Given the description of an element on the screen output the (x, y) to click on. 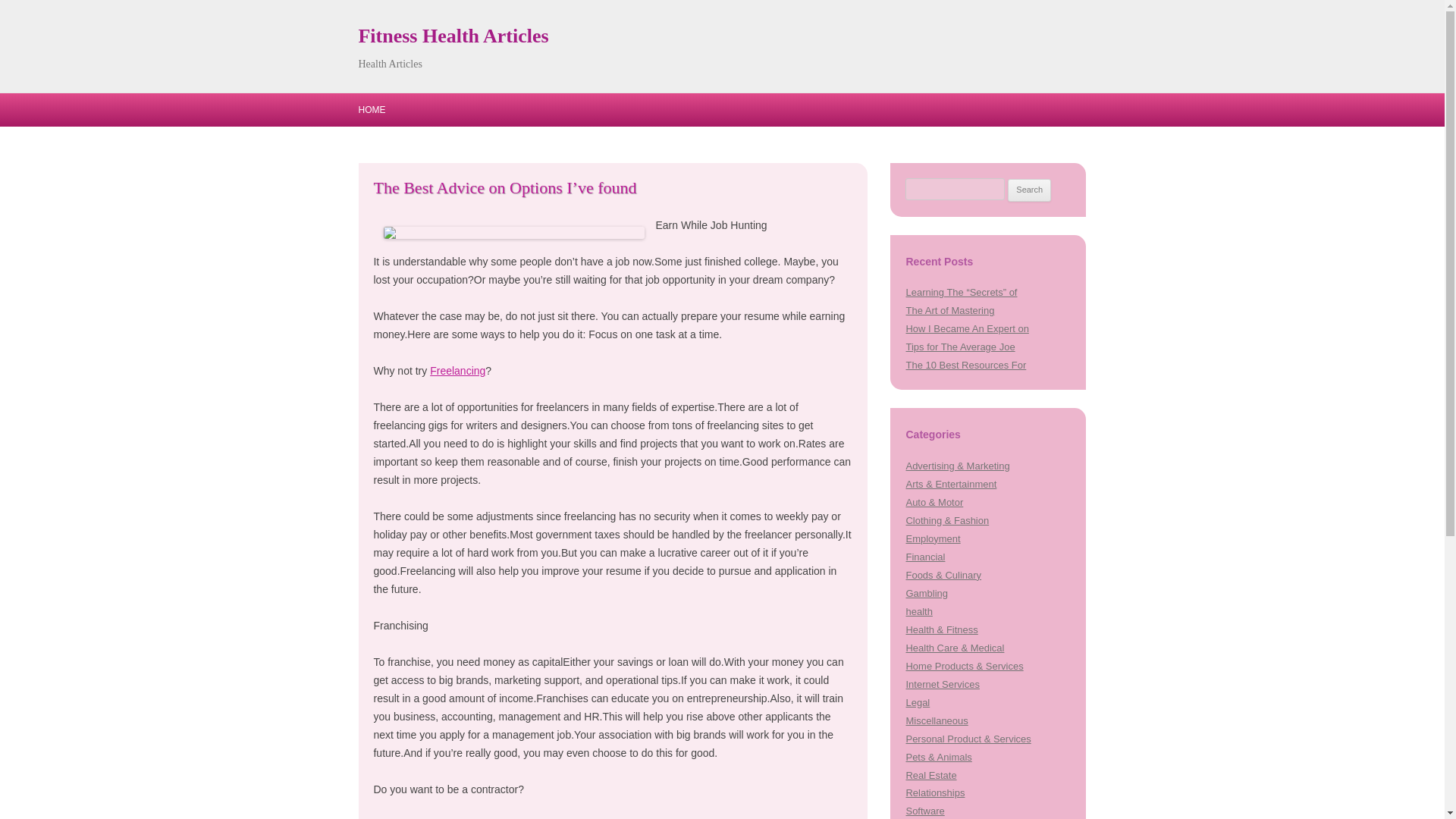
The Art of Mastering (949, 310)
Employment (932, 538)
Search (1029, 190)
Miscellaneous (936, 720)
The 10 Best Resources For (965, 365)
Real Estate (930, 774)
Search (1029, 190)
Fitness Health Articles (453, 36)
How I Became An Expert on (966, 328)
Software (924, 810)
Internet Services (941, 684)
Gambling (926, 593)
Relationships (934, 792)
